Given the description of an element on the screen output the (x, y) to click on. 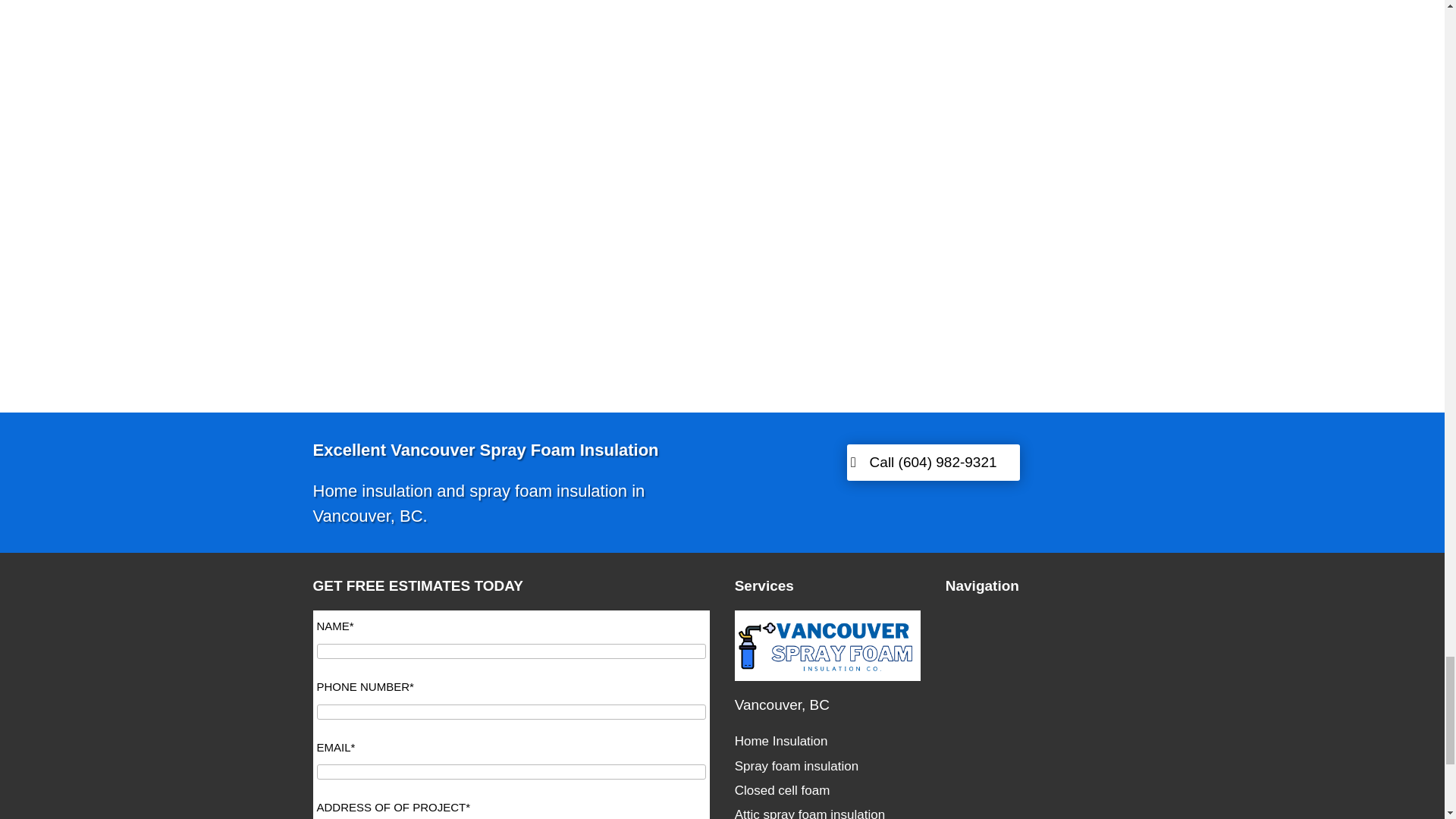
vancouver-spray-foam-insulation-co-logo (828, 645)
